Given the description of an element on the screen output the (x, y) to click on. 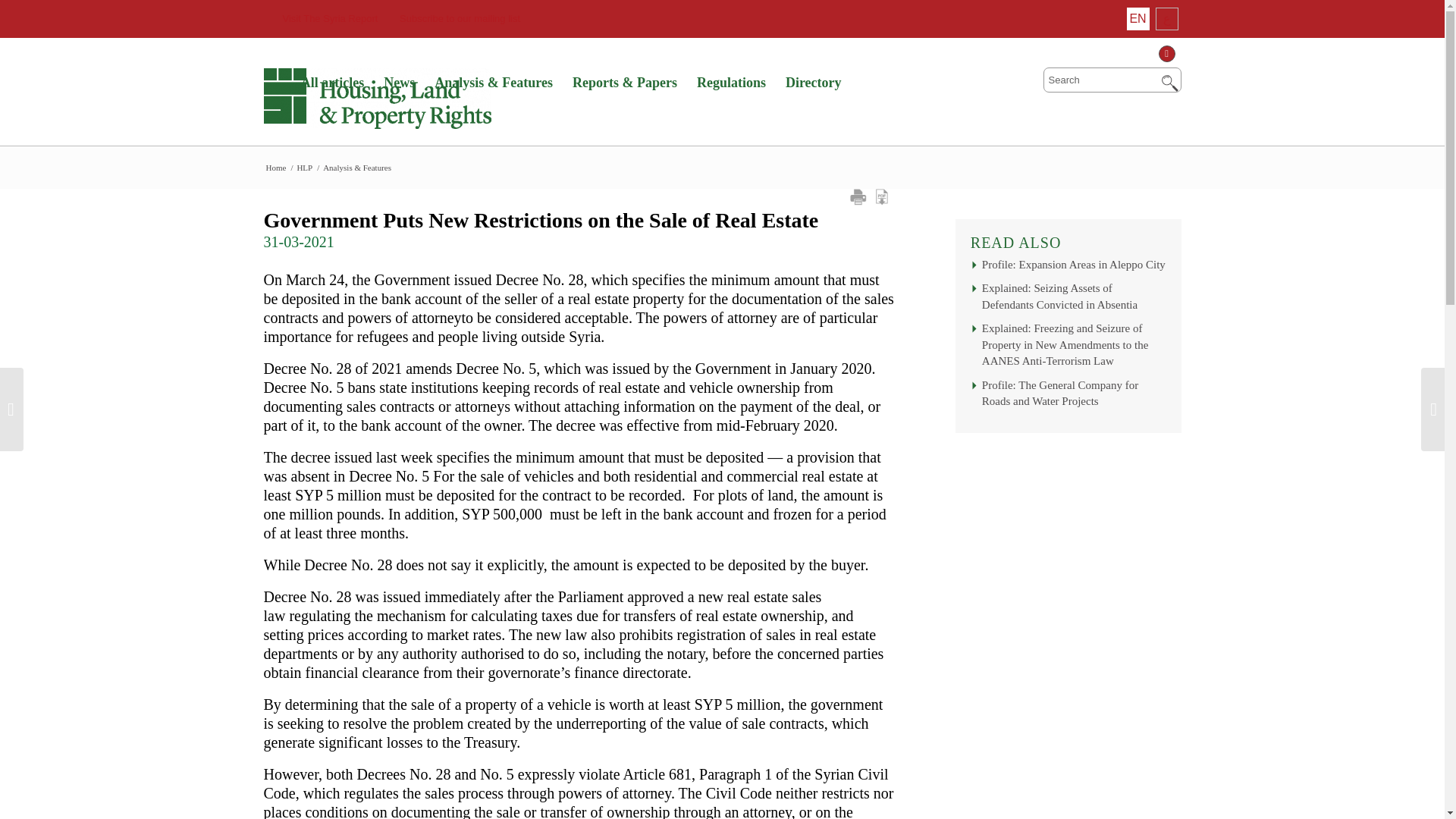
Regulations (731, 82)
Twitter (1169, 52)
EN (1138, 18)
Home (275, 167)
All articles (332, 82)
News (399, 82)
Profile: Expansion Areas in Aleppo City (1068, 268)
Visit The Syria Report (320, 18)
Subscribe to our mailing list (449, 18)
Profile: The General Company for Roads and Water Projects (1068, 397)
Syria Report (275, 167)
EN (1138, 18)
